Given the description of an element on the screen output the (x, y) to click on. 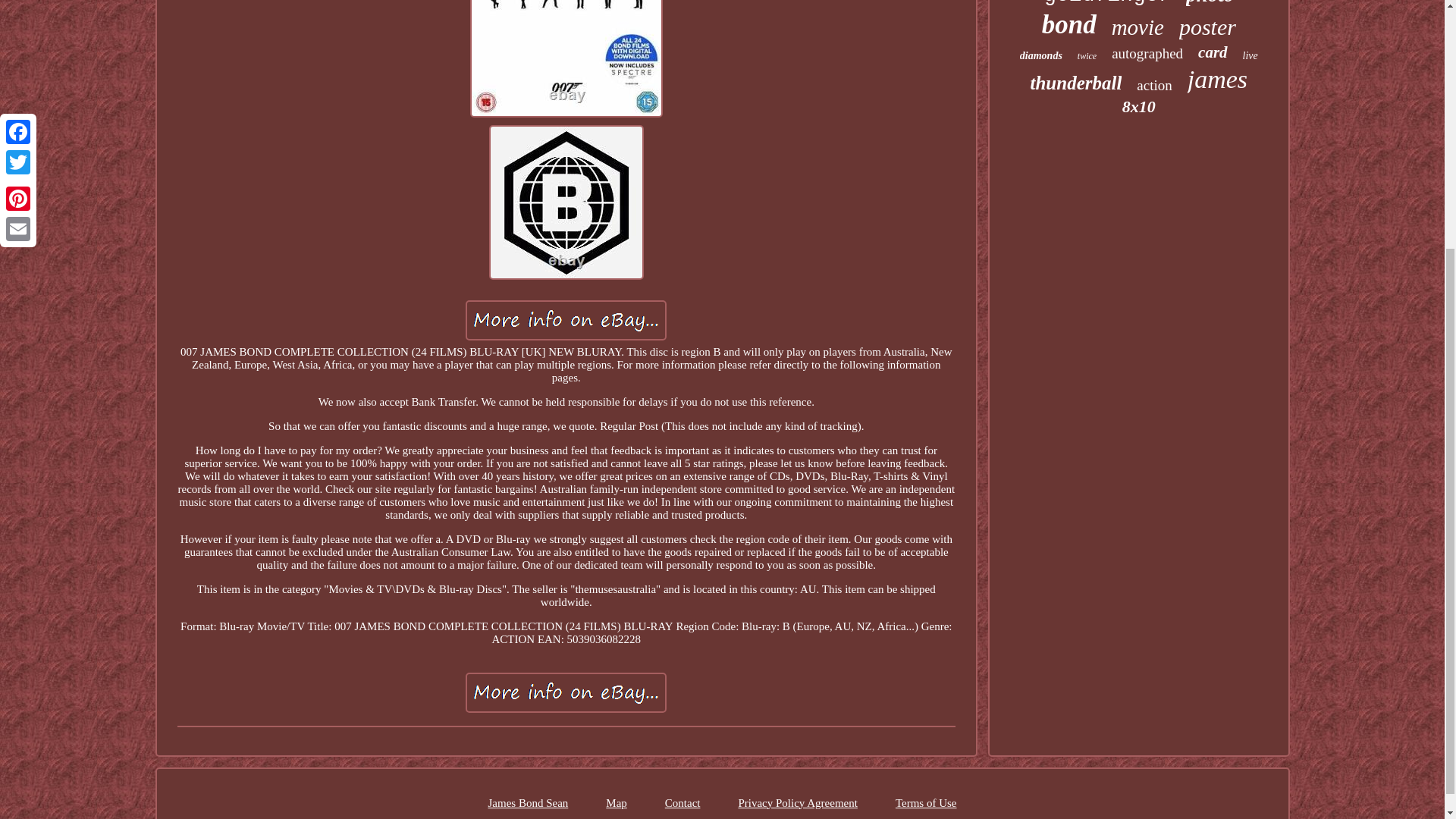
movie (1137, 27)
photo (1209, 3)
bond (1069, 24)
twice (1086, 56)
poster (1207, 27)
diamonds (1041, 55)
goldfinger (1106, 3)
